Given the description of an element on the screen output the (x, y) to click on. 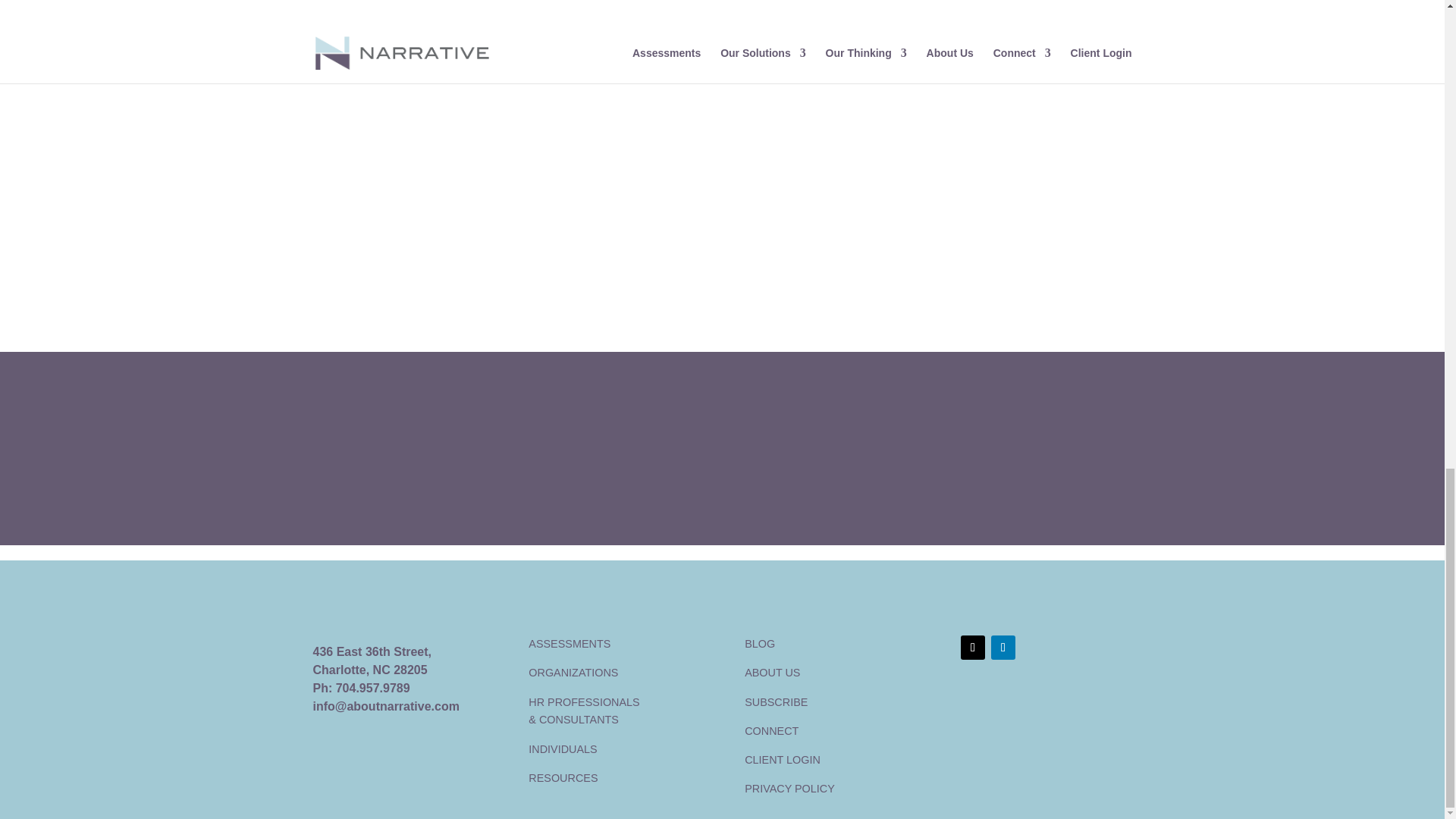
Follow on X (972, 647)
Follow on LinkedIn (1002, 647)
